Given the description of an element on the screen output the (x, y) to click on. 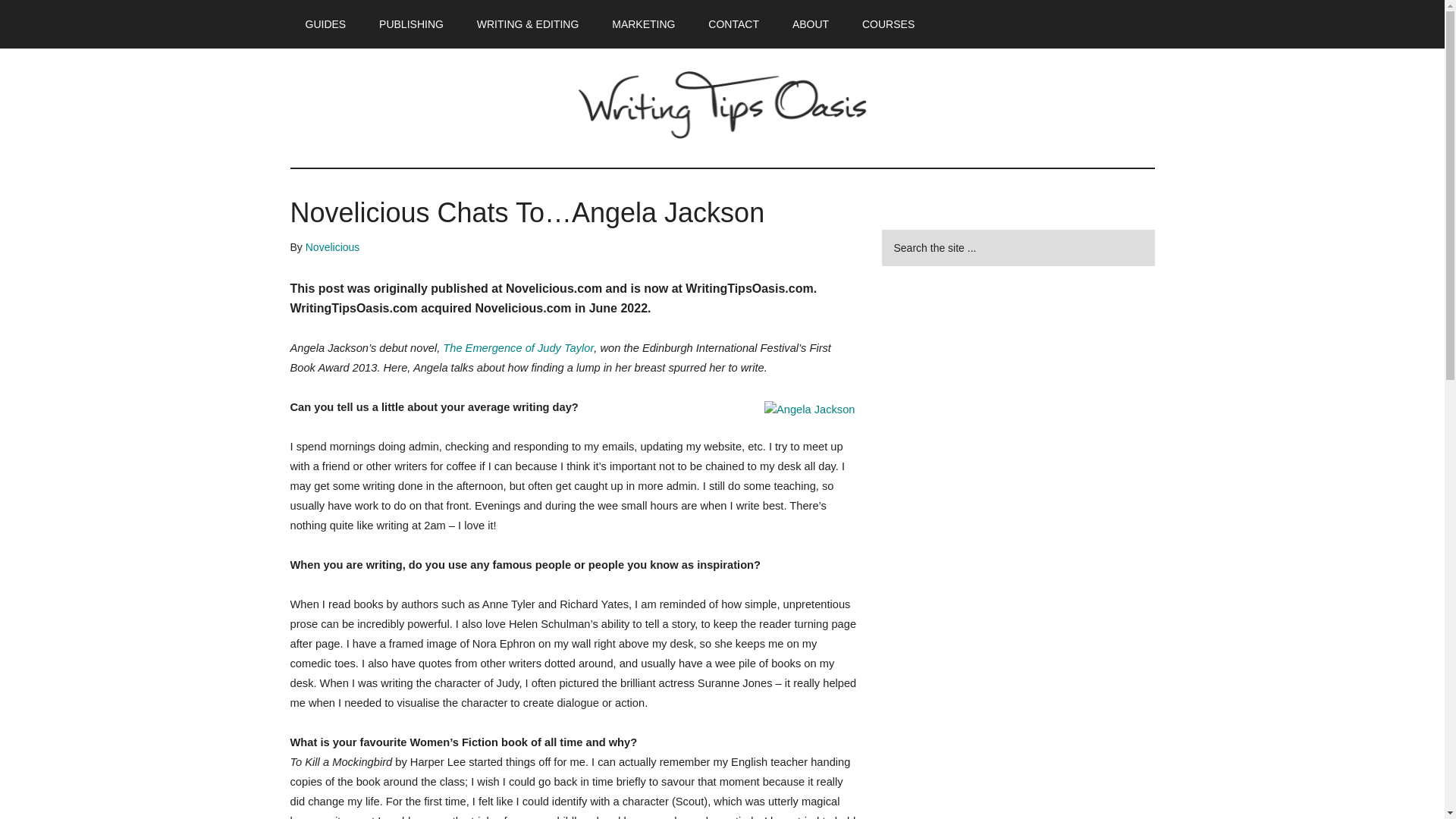
Novelicious (332, 246)
The Emergence of Judy Taylor (518, 347)
CONTACT (733, 24)
ABOUT (810, 24)
Angela Jackson (809, 410)
GUIDES (325, 24)
COURSES (888, 24)
PUBLISHING (411, 24)
MARKETING (643, 24)
The Emergence of Judy Taylor by Angela Jackson on Amazon (518, 347)
